Given the description of an element on the screen output the (x, y) to click on. 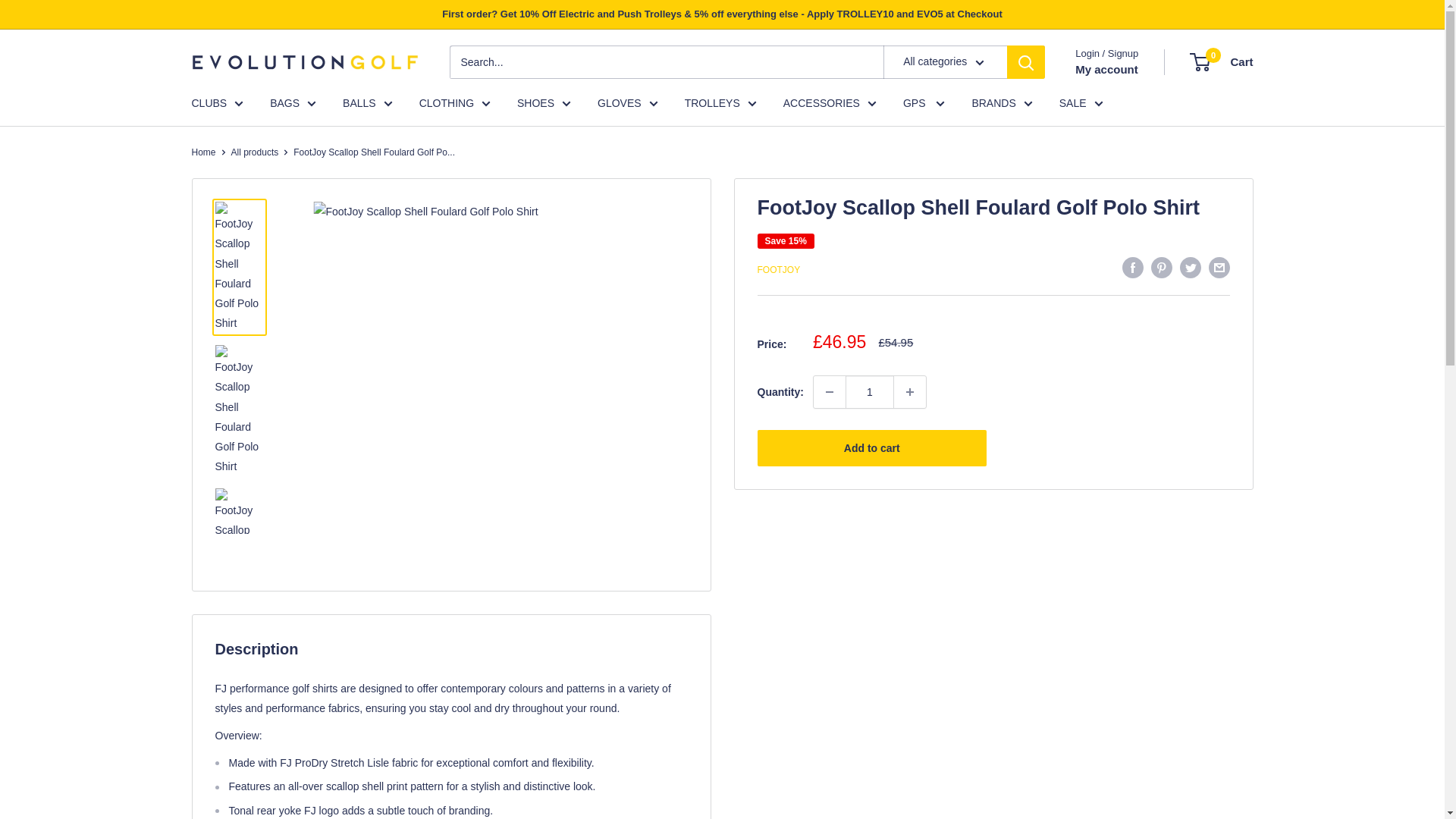
1 (869, 391)
Increase quantity by 1 (909, 391)
Decrease quantity by 1 (829, 391)
